Given the description of an element on the screen output the (x, y) to click on. 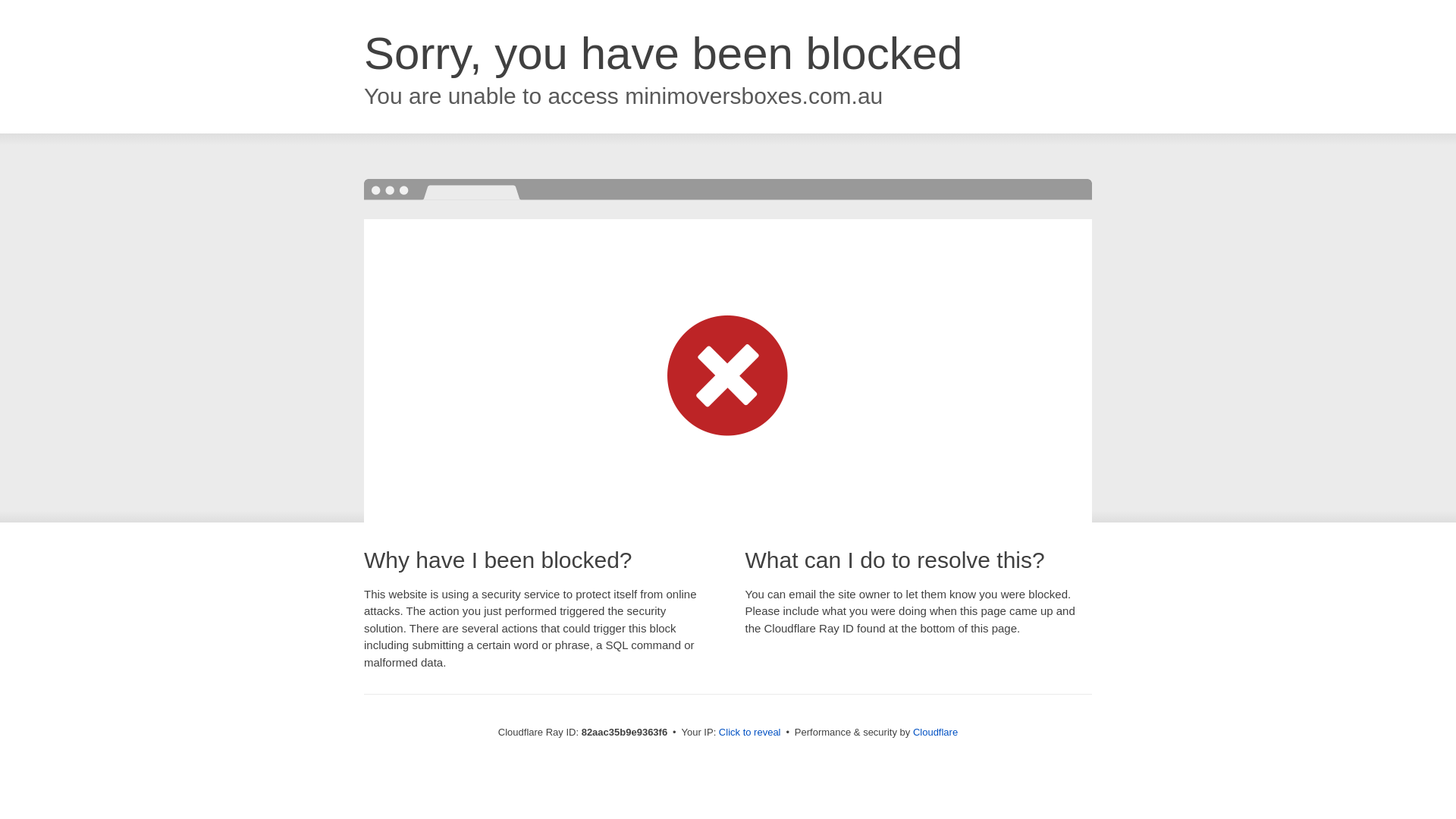
Cloudflare Element type: text (935, 731)
Click to reveal Element type: text (749, 732)
